Given the description of an element on the screen output the (x, y) to click on. 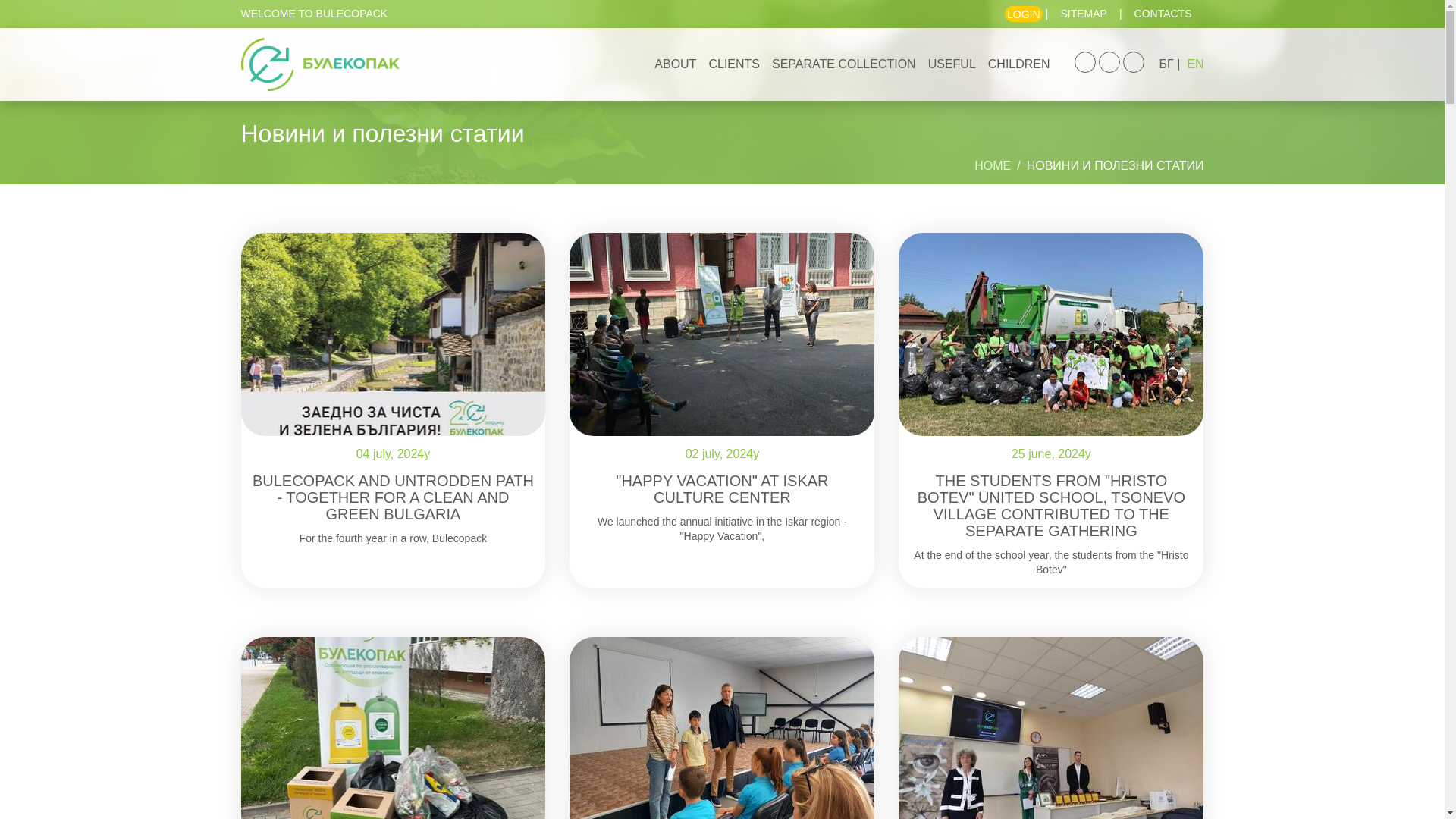
CHILDREN (1018, 64)
ABOUT (674, 64)
USEFUL (951, 64)
SEPARATE COLLECTION (843, 64)
HOME (992, 166)
SITEMAP (1083, 13)
CLIENTS (733, 64)
CONTACTS (1163, 13)
LOGIN (1023, 13)
